Given the description of an element on the screen output the (x, y) to click on. 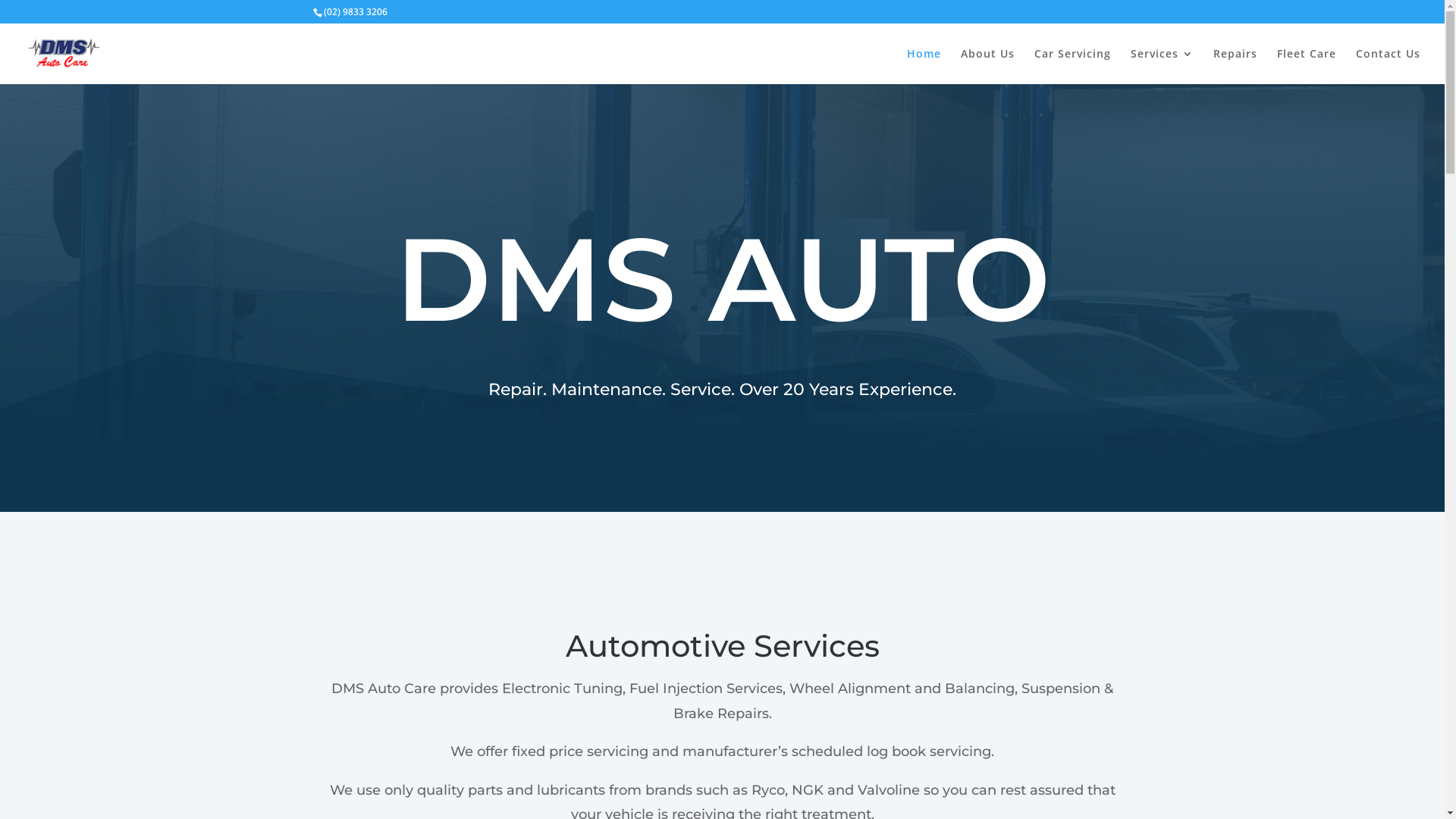
About Us Element type: text (987, 66)
Contact Us Element type: text (1387, 66)
Fleet Care Element type: text (1306, 66)
Home Element type: text (923, 66)
Repairs Element type: text (1235, 66)
Car Servicing Element type: text (1072, 66)
Services Element type: text (1161, 66)
